Given the description of an element on the screen output the (x, y) to click on. 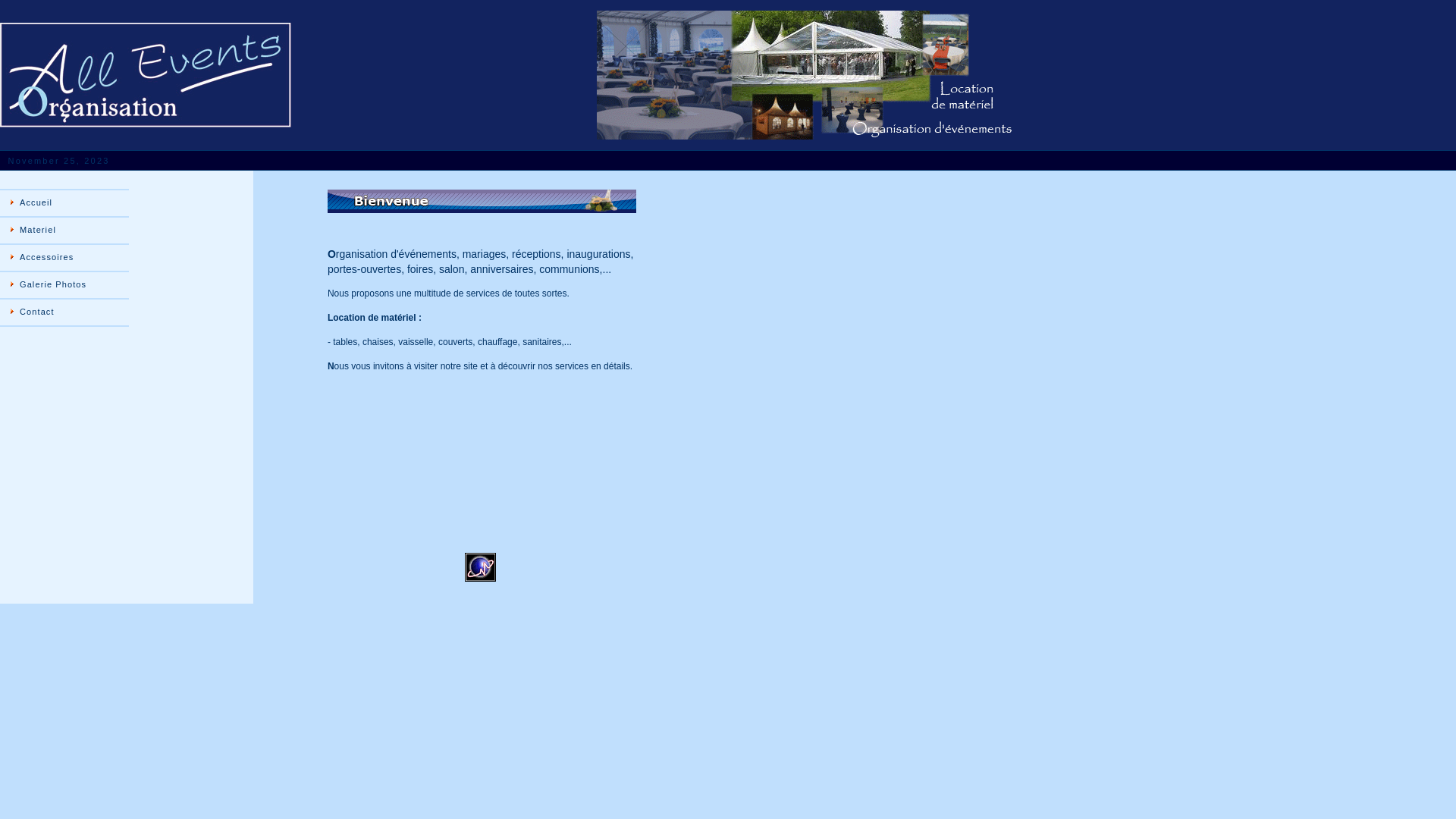
Materiel Element type: text (64, 230)
Contact Element type: text (64, 312)
Galerie Photos Element type: text (64, 285)
Accessoires Element type: text (64, 257)
Accueil Element type: text (64, 203)
